Given the description of an element on the screen output the (x, y) to click on. 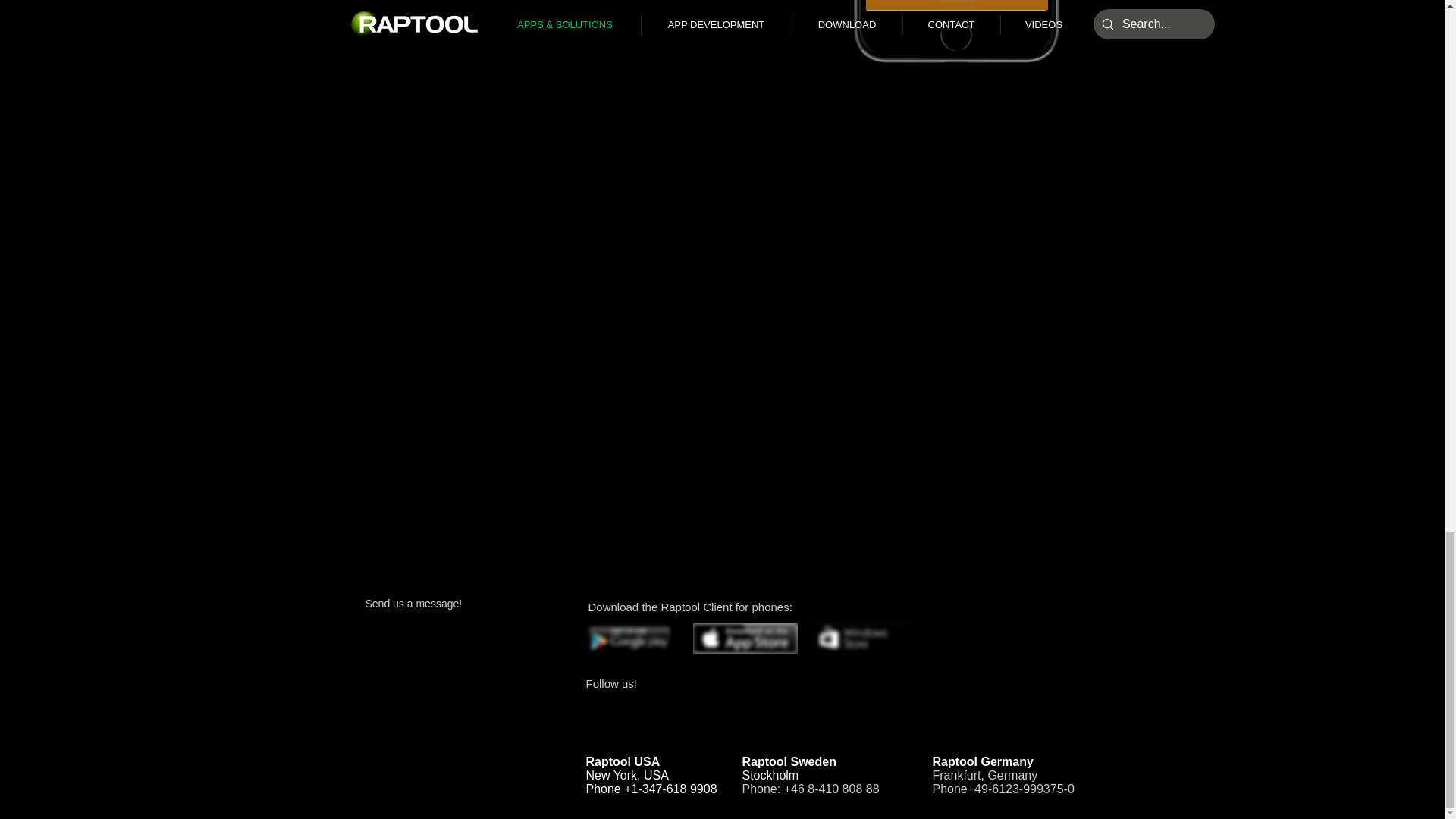
Raptool iOS Client (745, 638)
Raptool Android Client (628, 637)
Raptool Windows Phone Client (861, 637)
Twitter Tweet (848, 709)
